Given the description of an element on the screen output the (x, y) to click on. 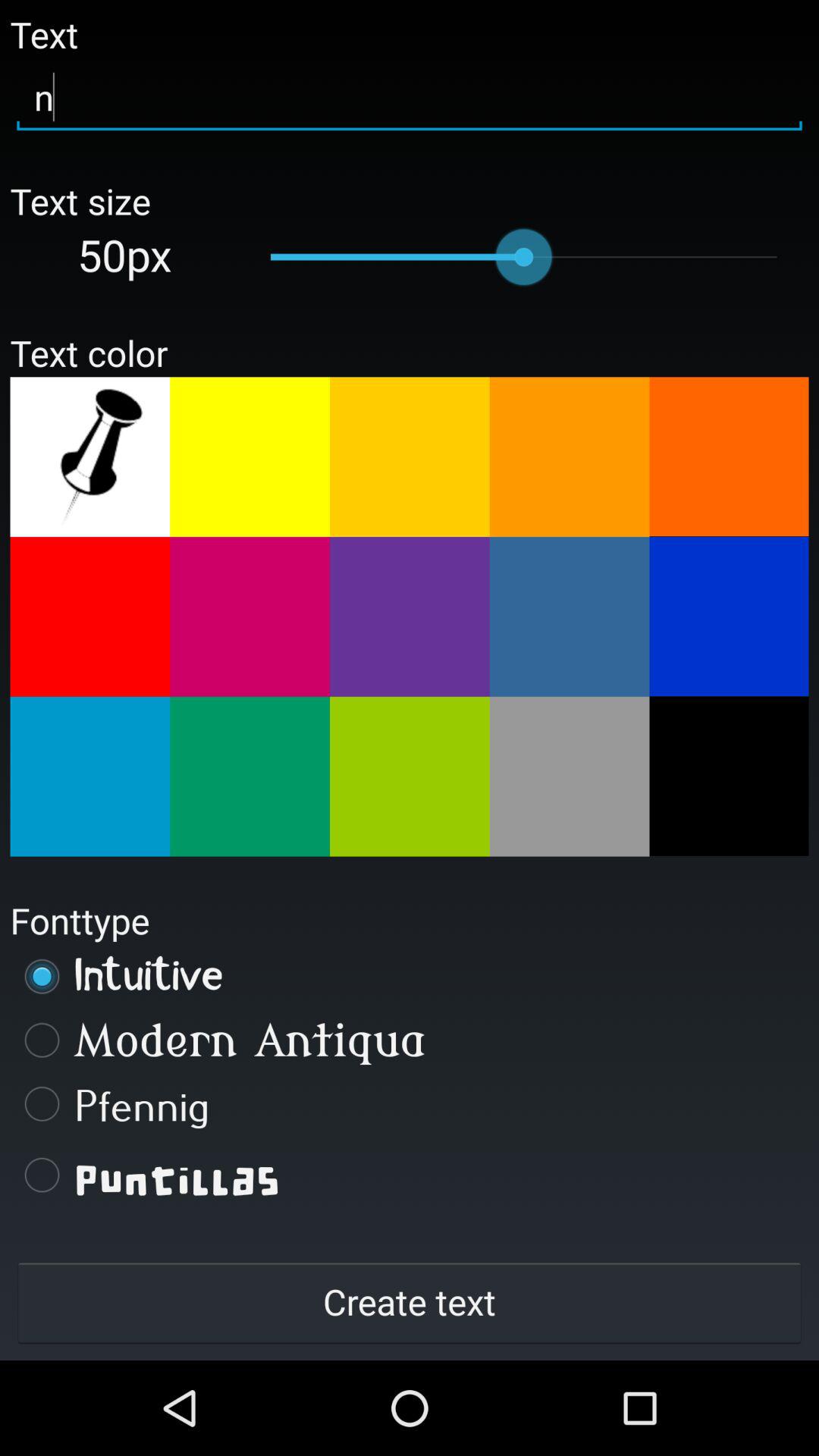
choose displayed color (409, 776)
